Given the description of an element on the screen output the (x, y) to click on. 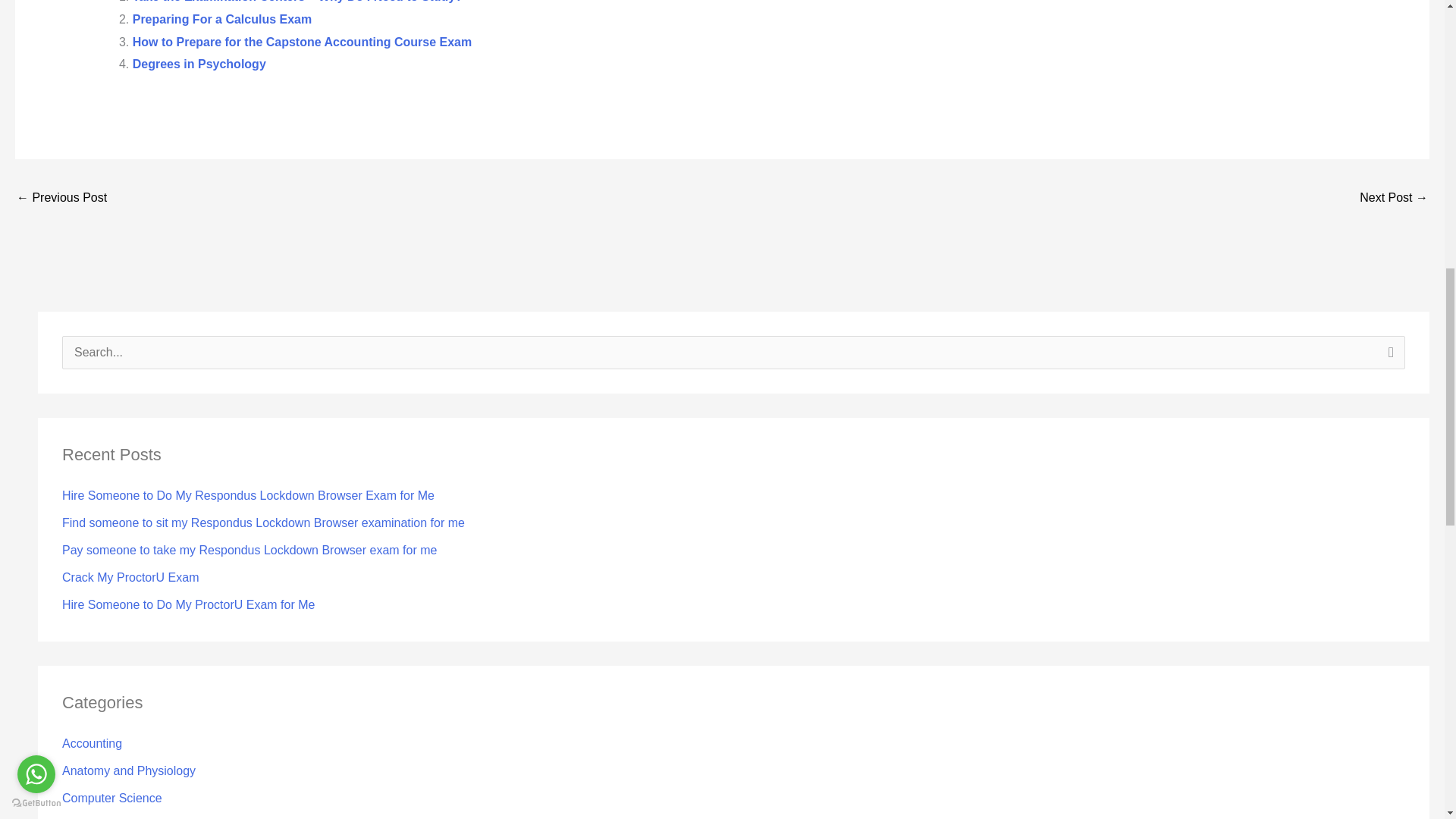
Preparing For a Calculus Exam (222, 19)
Hire Someone to Do My ProctorU Exam for Me (188, 604)
Hire Someone to Do My Respondus Lockdown Browser Exam for Me (247, 495)
Crack My ProctorU Exam (130, 576)
Preparing For a Calculus Exam (222, 19)
Passing the Correlation Exam (1393, 198)
Degrees in Psychology (199, 63)
How to Prepare for the Capstone Accounting Course Exam (301, 42)
Taking A Electronics Exam Is Very Important (61, 198)
Computer Science (111, 797)
How to Prepare for the Capstone Accounting Course Exam (301, 42)
Accounting (92, 743)
Degrees in Psychology (199, 63)
